Given the description of an element on the screen output the (x, y) to click on. 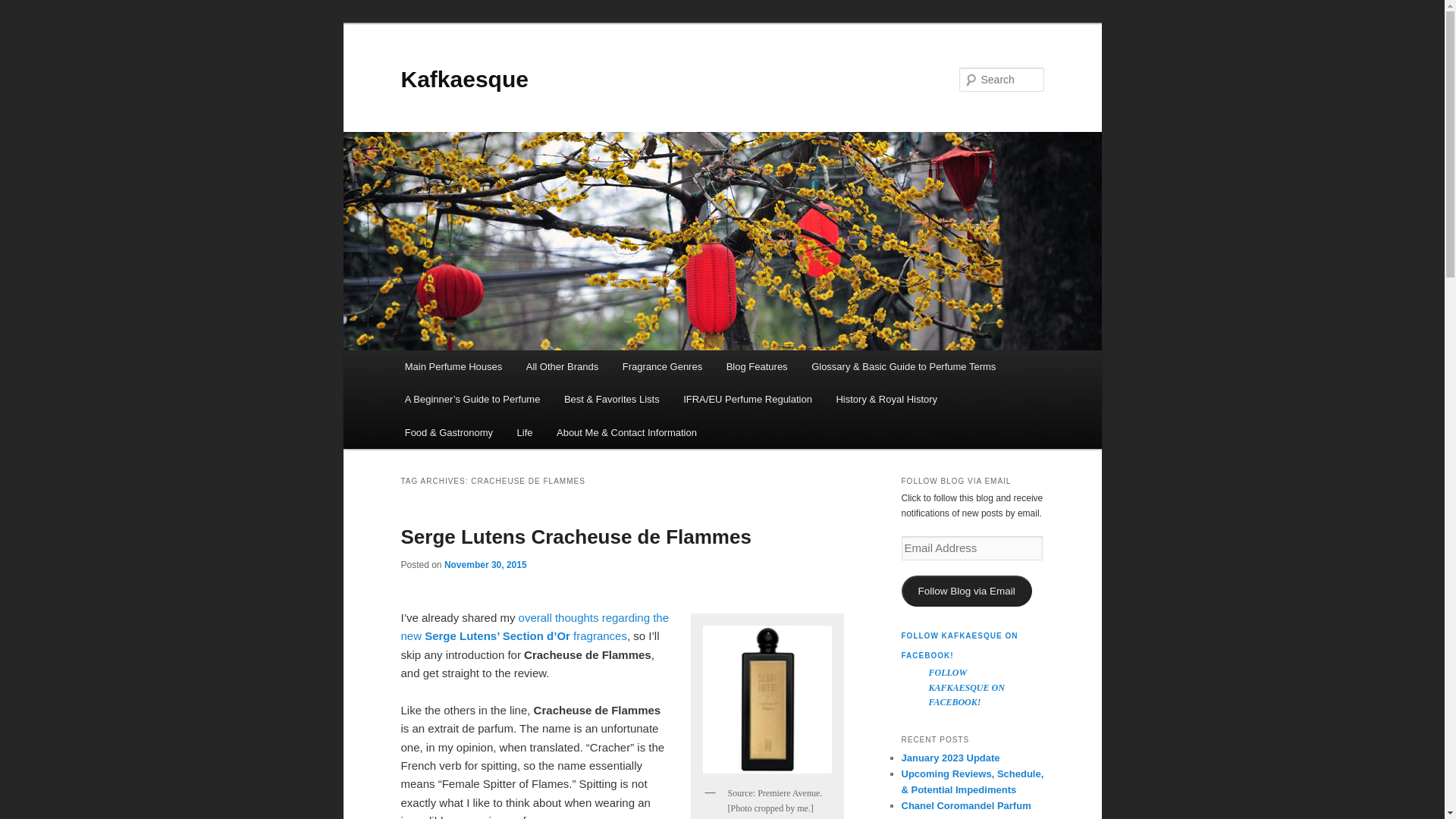
Main Perfume Houses (453, 366)
All Other Brands (561, 366)
Kafkaesque (463, 78)
Search (24, 8)
Kafkaesque (463, 78)
6:57 am (485, 564)
